Given the description of an element on the screen output the (x, y) to click on. 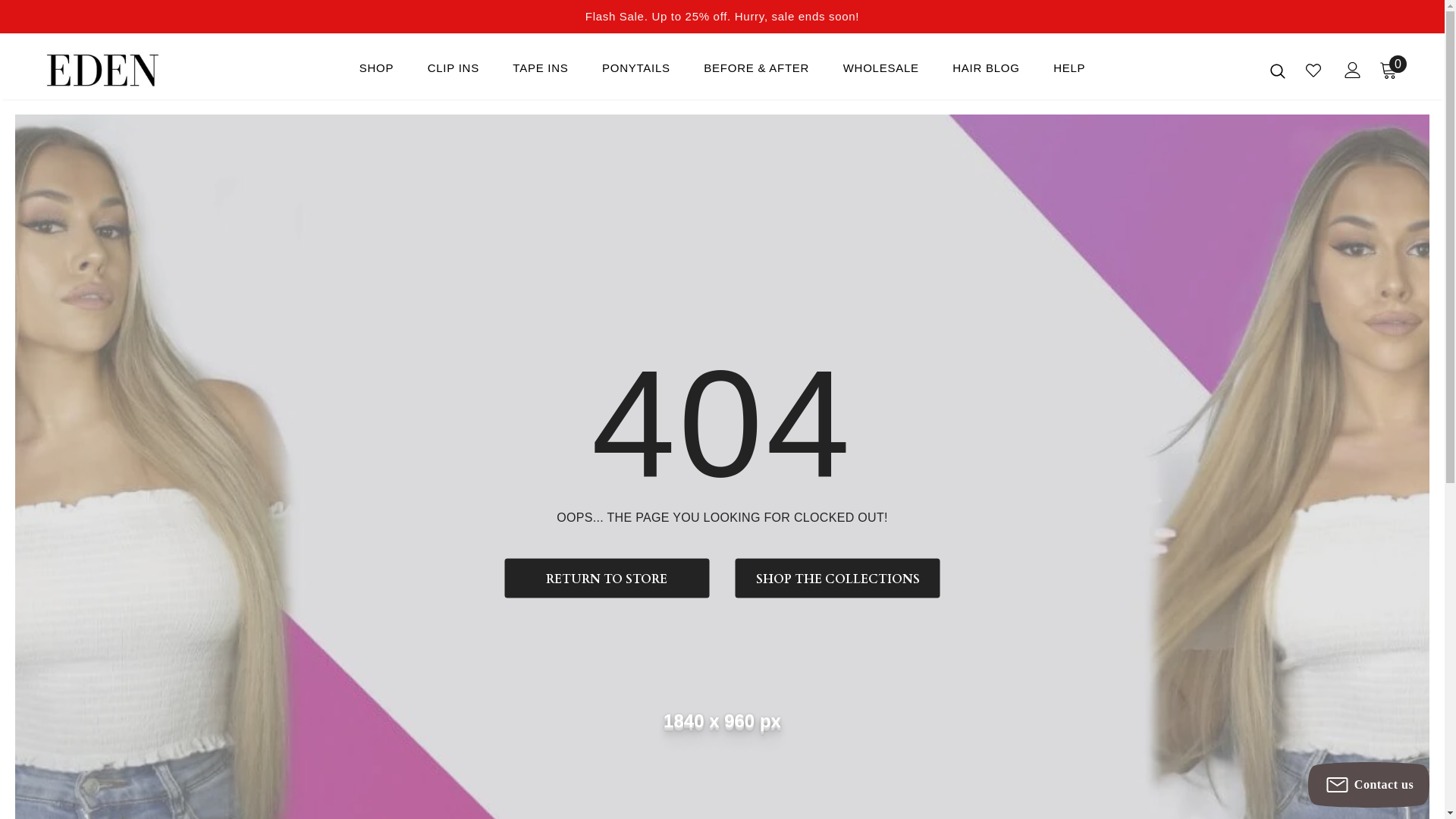
HAIR BLOG Element type: text (985, 71)
HELP Element type: text (1069, 71)
SHOP THE COLLECTIONS Element type: text (837, 577)
PONYTAILS Element type: text (636, 71)
User Icon Element type: hover (1352, 69)
BEFORE & AFTER Element type: text (756, 71)
Search Icon Element type: hover (1277, 70)
WHOLESALE Element type: text (881, 71)
My Wish Lists Element type: hover (1313, 70)
TAPE INS Element type: text (539, 71)
SHOP Element type: text (376, 71)
CLIP INS Element type: text (453, 71)
0 Element type: text (1388, 69)
RETURN TO STORE Element type: text (606, 577)
Logo Element type: hover (134, 70)
